Given the description of an element on the screen output the (x, y) to click on. 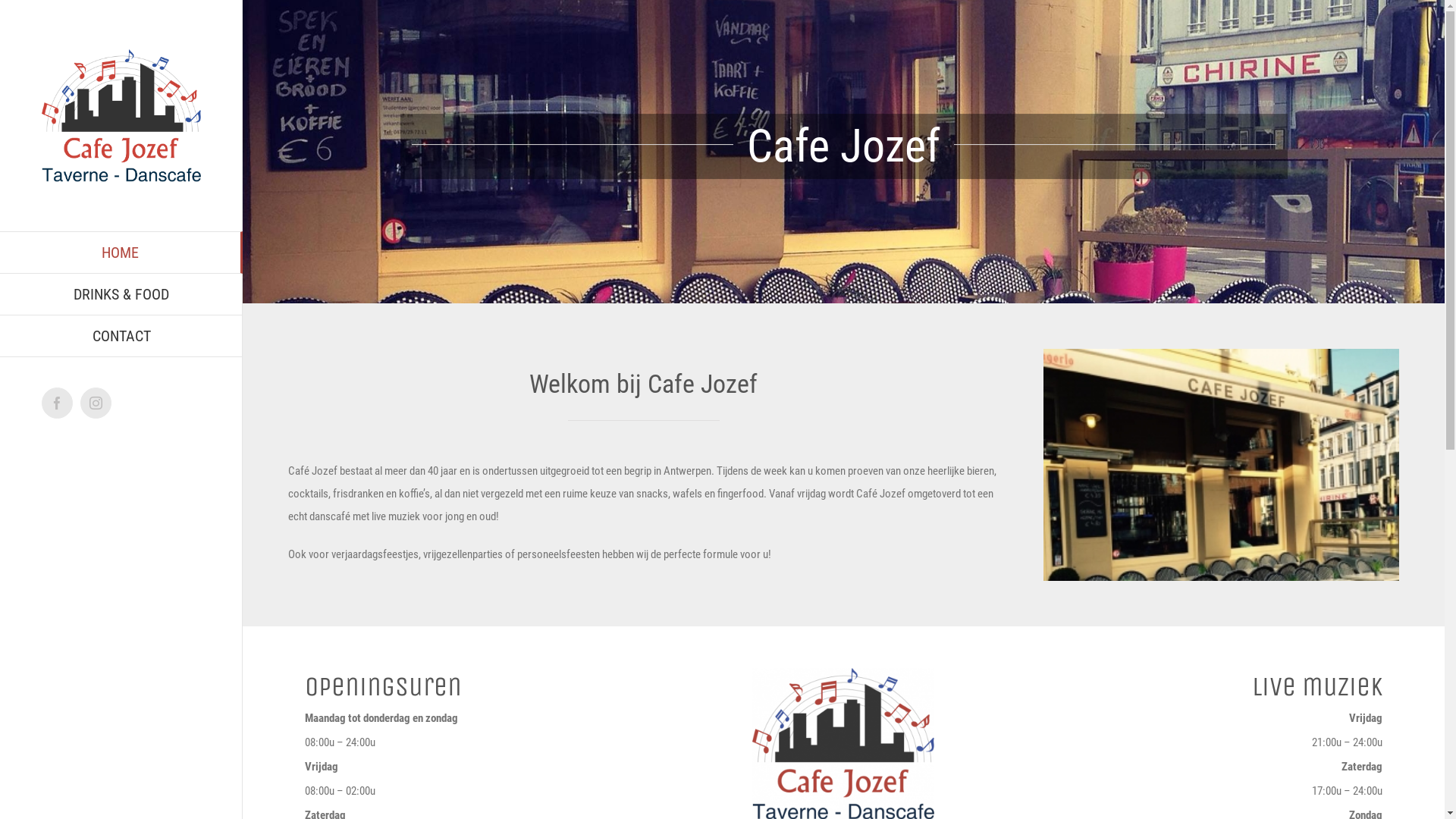
CONTACT Element type: text (121, 336)
Facebook Element type: text (56, 402)
DRINKS & FOOD Element type: text (121, 294)
HOME Element type: text (121, 252)
Instagram Element type: text (95, 402)
